Given the description of an element on the screen output the (x, y) to click on. 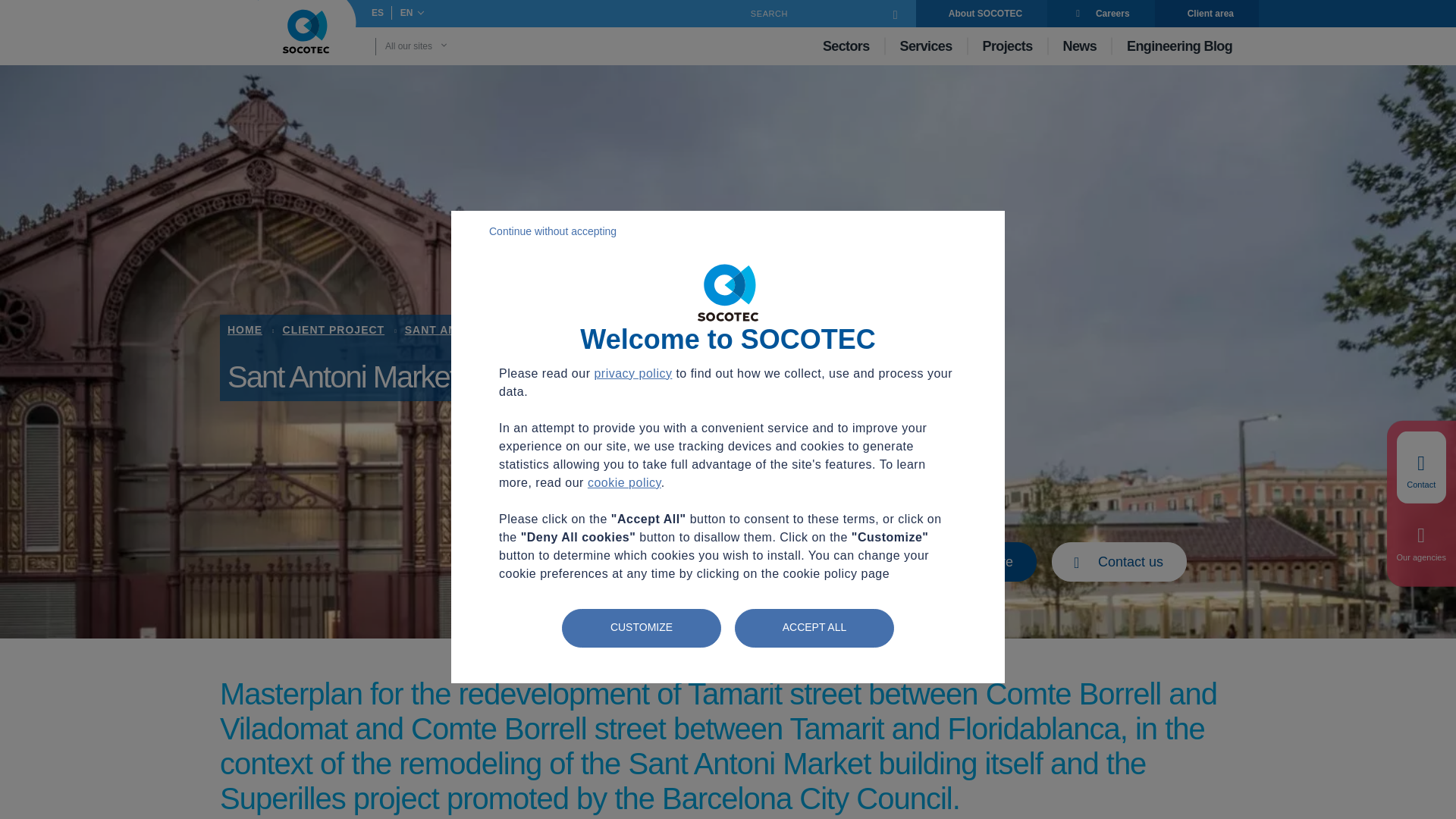
Client area (1206, 13)
Customize (641, 627)
Continue without accepting (746, 230)
About SOCOTEC (980, 13)
Accept All (814, 627)
Sectors (846, 46)
Careers (1100, 13)
EN (407, 12)
All our sites (437, 46)
